Given the description of an element on the screen output the (x, y) to click on. 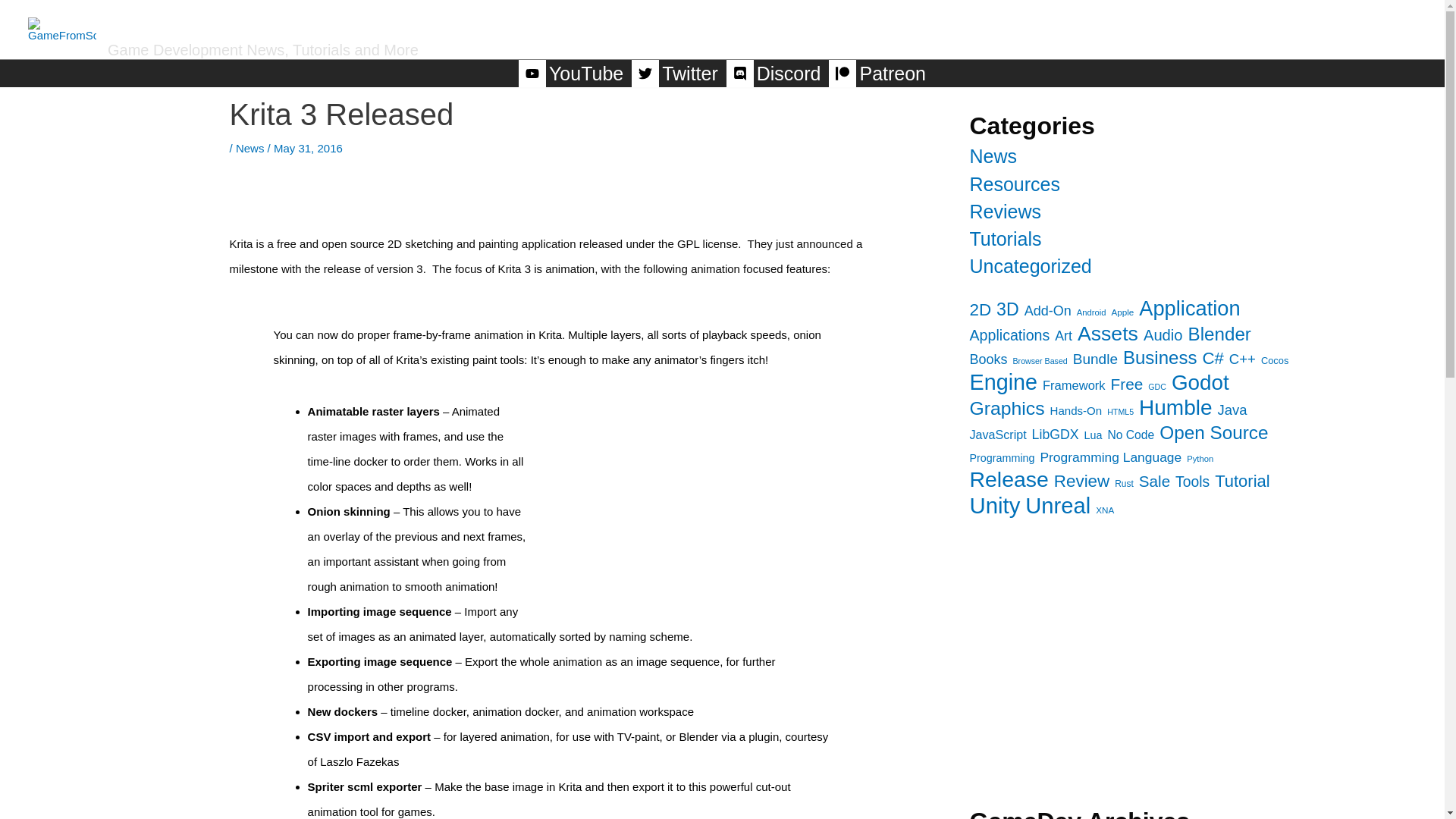
News (992, 156)
Uncategorized (1029, 265)
Resources (1014, 183)
3D (1007, 309)
Tutorials (1233, 24)
Discord (775, 72)
Android (1091, 311)
News (1067, 24)
Reviews (1146, 24)
Reviews (1005, 210)
